Given the description of an element on the screen output the (x, y) to click on. 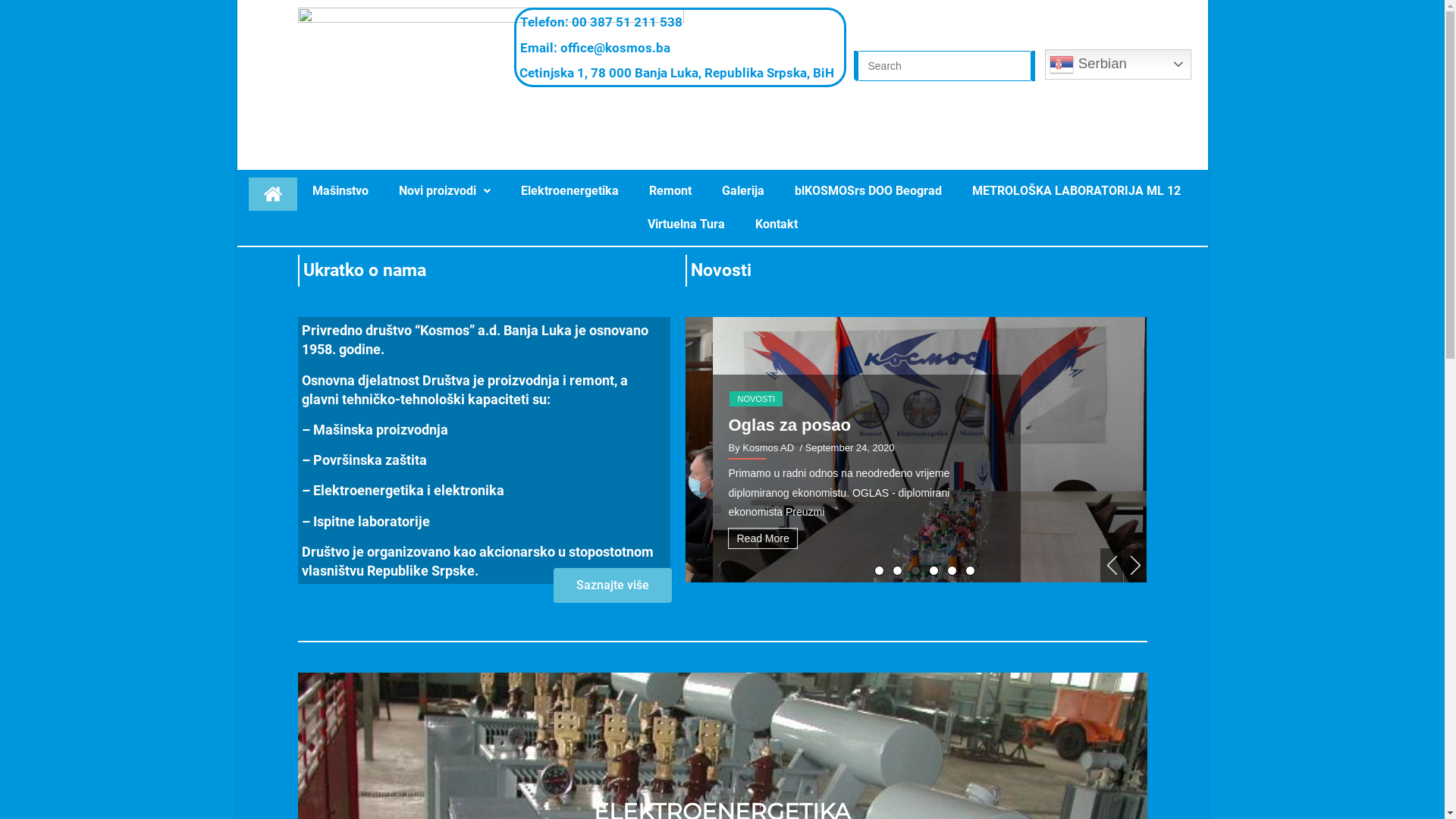
Galerija Element type: text (742, 190)
4 Element type: text (933, 570)
2 Element type: text (897, 570)
Remont Element type: text (669, 190)
Read More Element type: text (734, 538)
3 Element type: text (915, 570)
Previous Element type: text (1111, 565)
1 Element type: text (879, 570)
Kontakt Element type: text (776, 224)
Next Element type: text (1134, 565)
6 Element type: text (970, 570)
blKOSMOSrs DOO Beograd Element type: text (868, 190)
Serbian Element type: text (1117, 64)
5 Element type: text (952, 570)
NOVOSTI Element type: text (728, 378)
Novi proizvodi Element type: text (444, 190)
Elektroenergetika Element type: text (569, 190)
Virtuelna Tura Element type: text (686, 224)
